Given the description of an element on the screen output the (x, y) to click on. 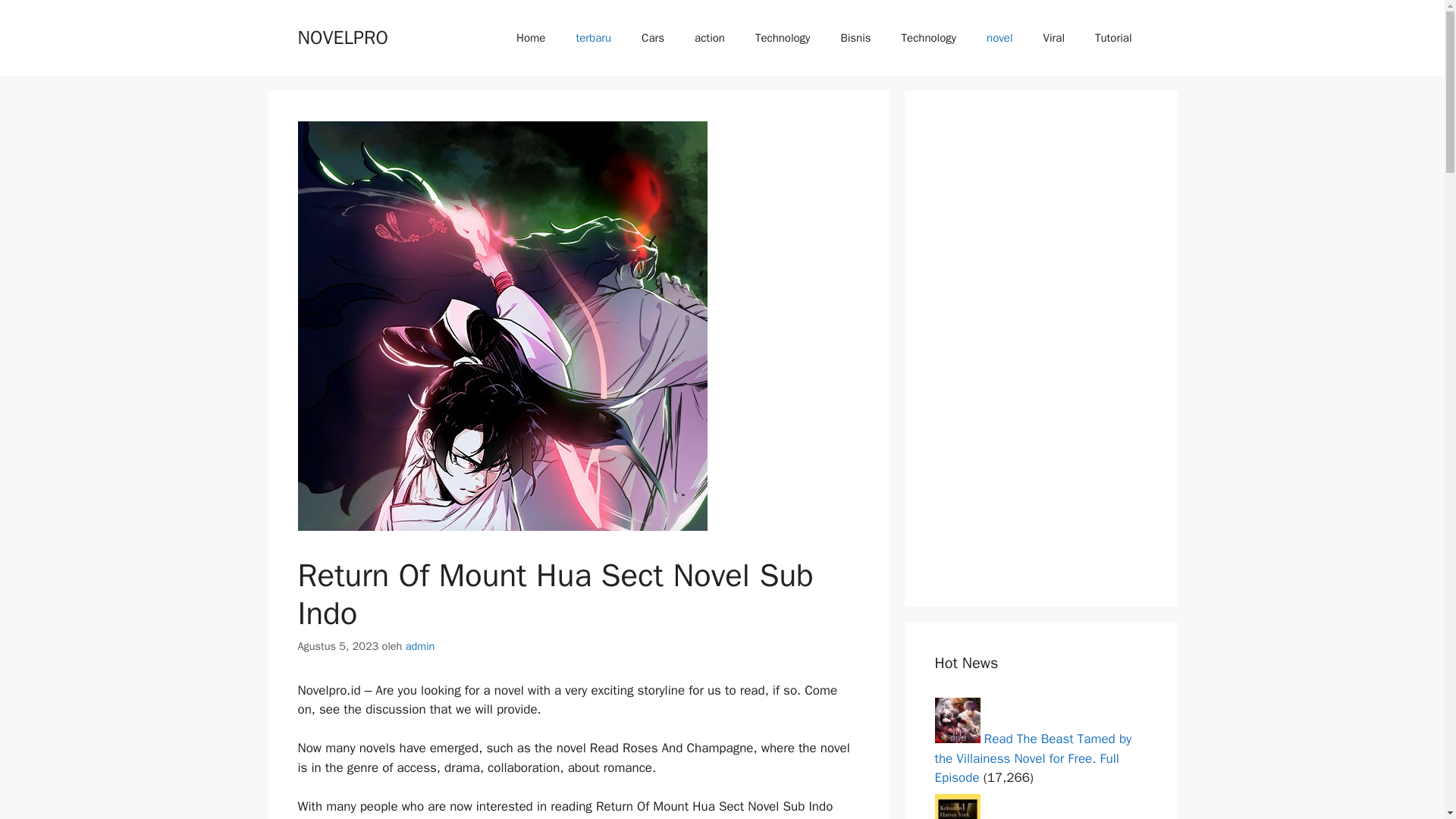
terbaru (593, 37)
Technology (929, 37)
Advertisement (1040, 348)
Cars (652, 37)
Technology (782, 37)
action (709, 37)
novel (999, 37)
Lihat semua tulisan oleh admin (420, 645)
Tutorial (1113, 37)
Home (530, 37)
admin (420, 645)
Cars (652, 37)
Viral (1053, 37)
Home (530, 37)
